Given the description of an element on the screen output the (x, y) to click on. 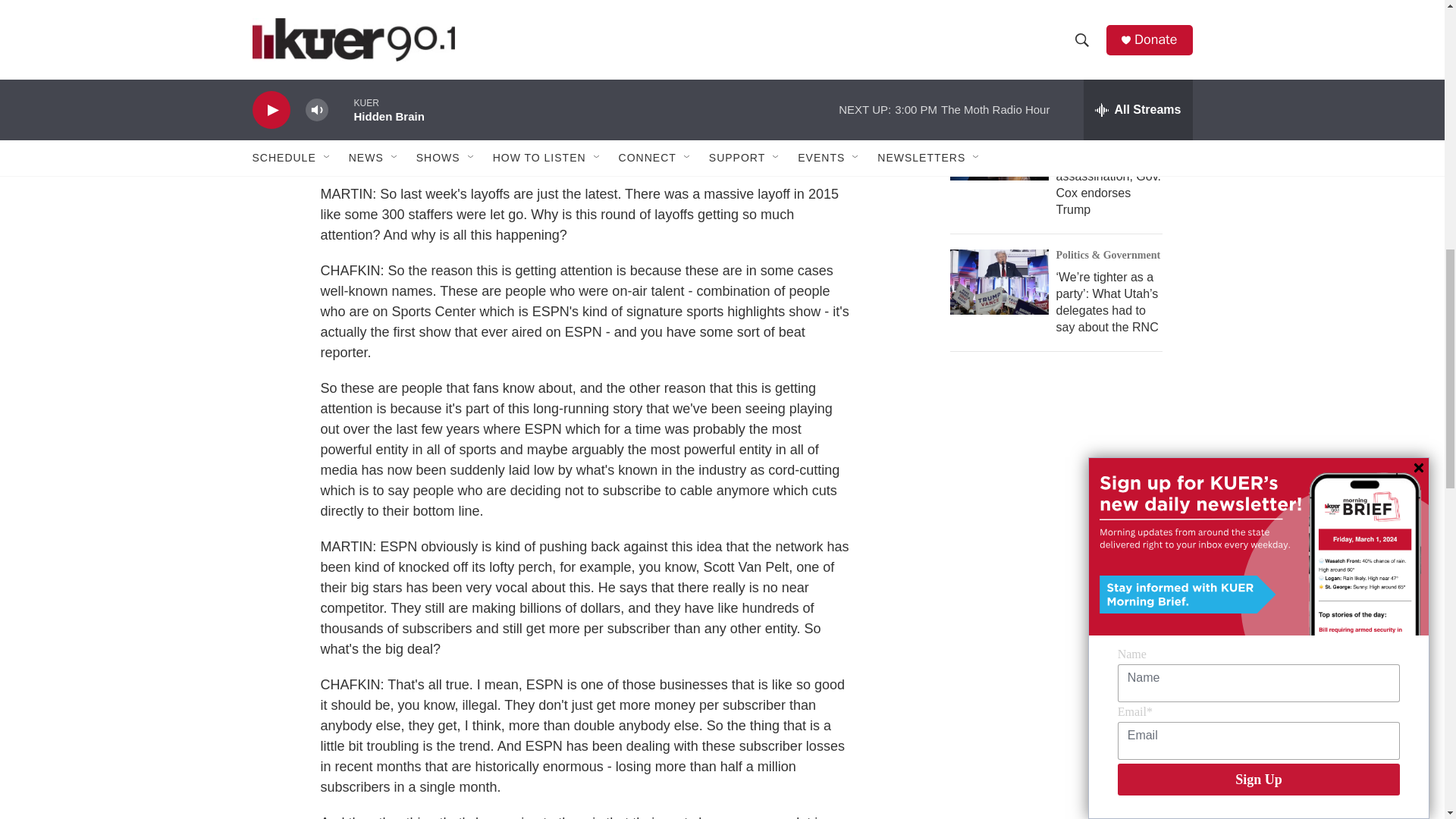
3rd party ad content (1062, 495)
3rd party ad content (1062, 729)
